Given the description of an element on the screen output the (x, y) to click on. 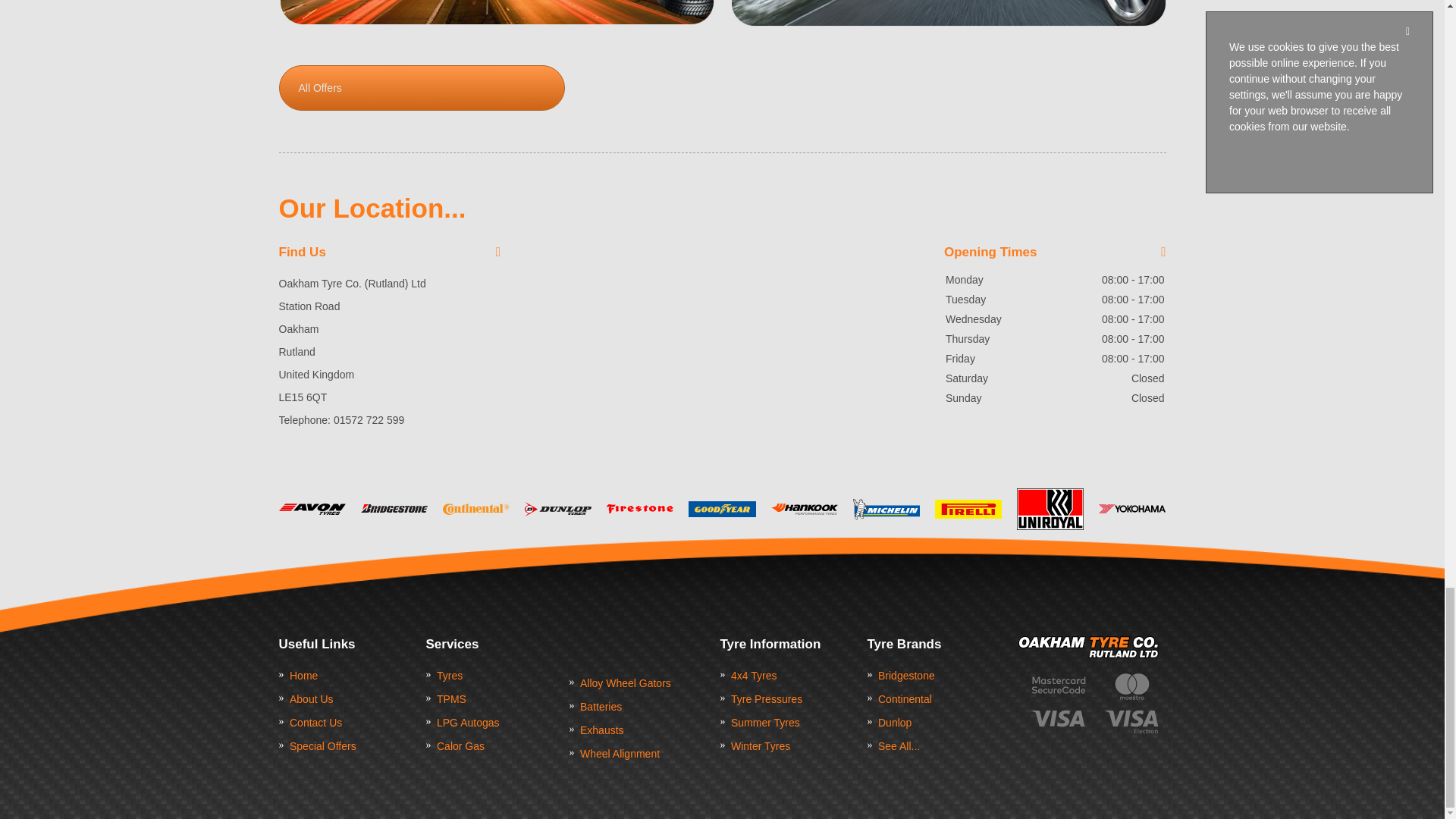
Calor Gas (455, 746)
Home (298, 675)
All Offers (421, 87)
TPMS (445, 699)
Special Offers (317, 746)
Alloy Wheel Gators (619, 683)
Tyres (444, 675)
Wheel Alignment (614, 754)
01572 722 599 (368, 419)
LPG Autogas (462, 722)
About Us (306, 699)
Exhausts (596, 730)
Contact Us (310, 722)
Batteries (595, 706)
